Given the description of an element on the screen output the (x, y) to click on. 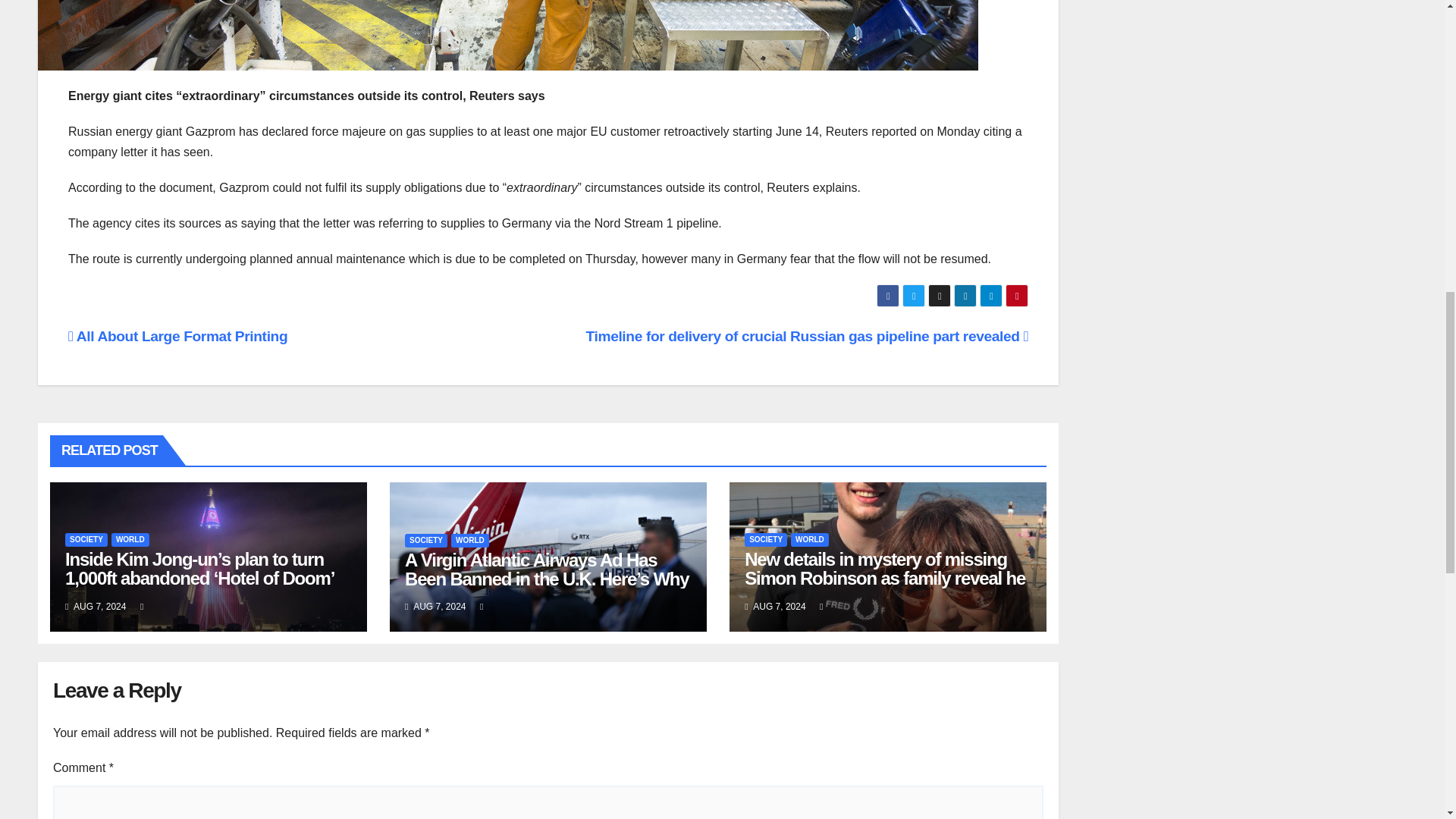
WORLD (470, 540)
All About Large Format Printing (177, 335)
WORLD (130, 540)
SOCIETY (765, 540)
SOCIETY (86, 540)
SOCIETY (425, 540)
WORLD (809, 540)
